Given the description of an element on the screen output the (x, y) to click on. 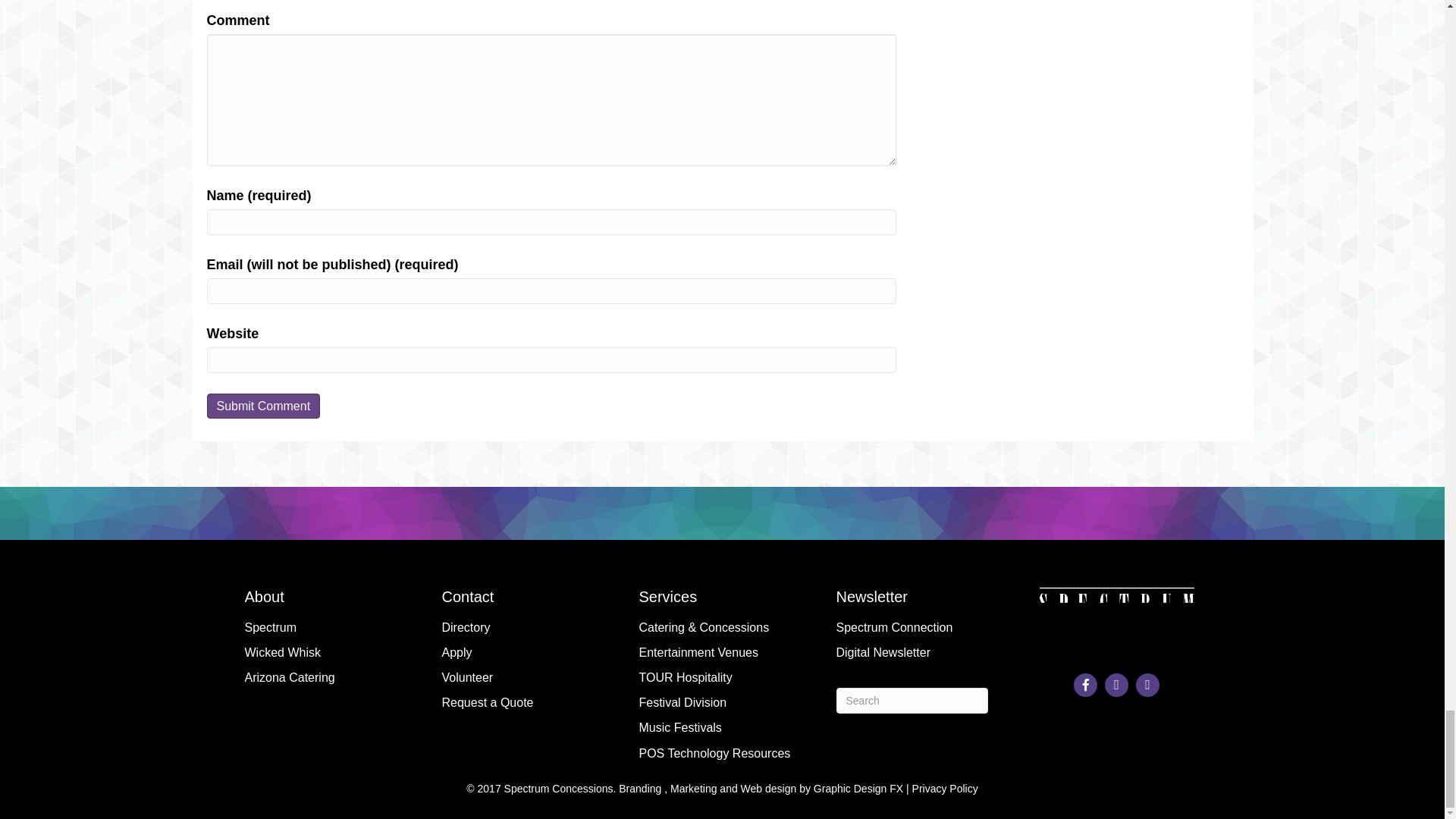
Submit Comment (263, 405)
Digital Newsletter (919, 652)
Festival Division (722, 702)
Request a Quote (524, 702)
Type and press Enter to search. (911, 700)
Volunteer (524, 677)
Logo White (1115, 621)
Arizona Catering (327, 677)
Spectrum (327, 627)
Graphic Design FX (857, 788)
